Given the description of an element on the screen output the (x, y) to click on. 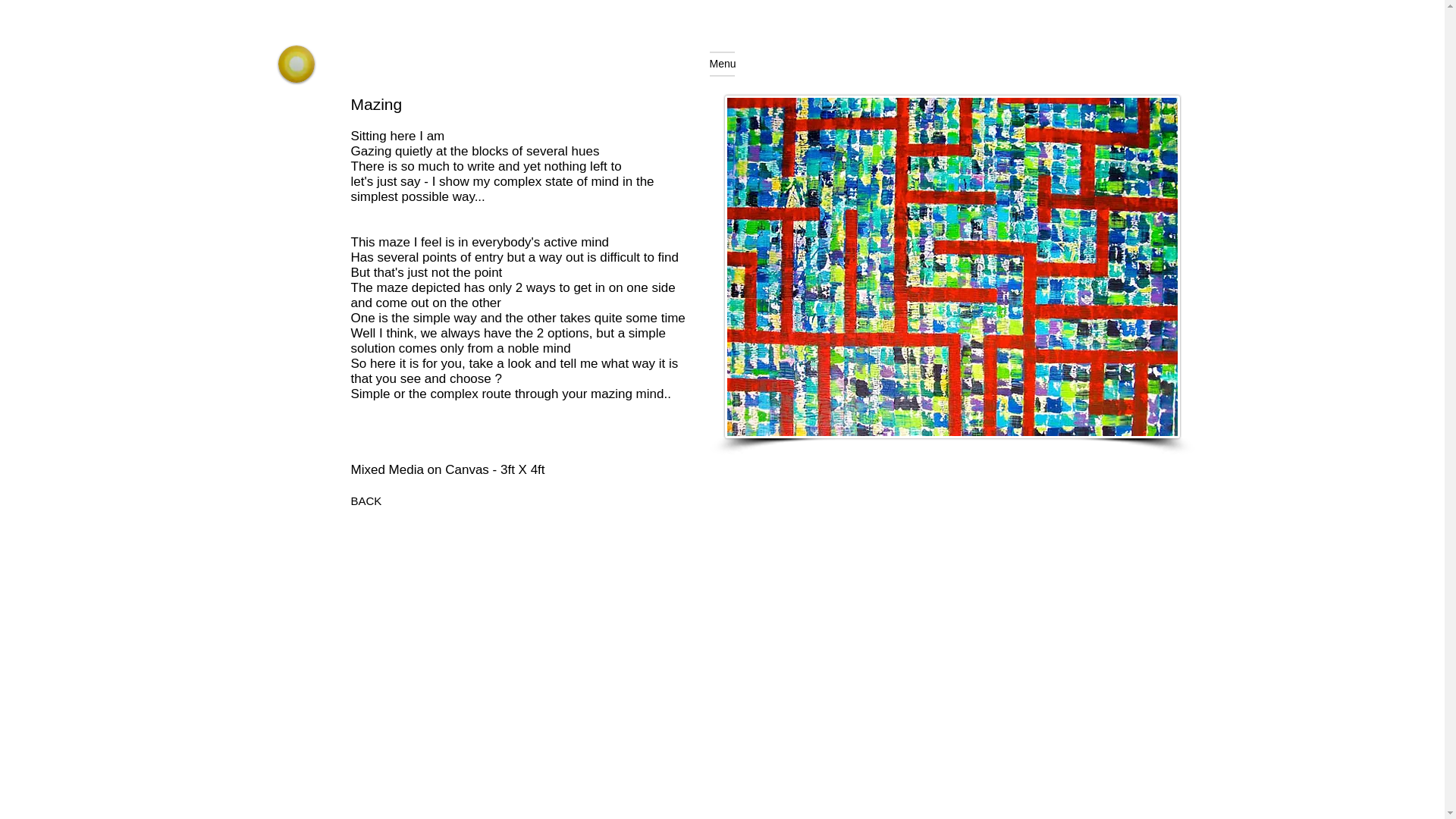
Menu (722, 63)
BACK (365, 500)
